Given the description of an element on the screen output the (x, y) to click on. 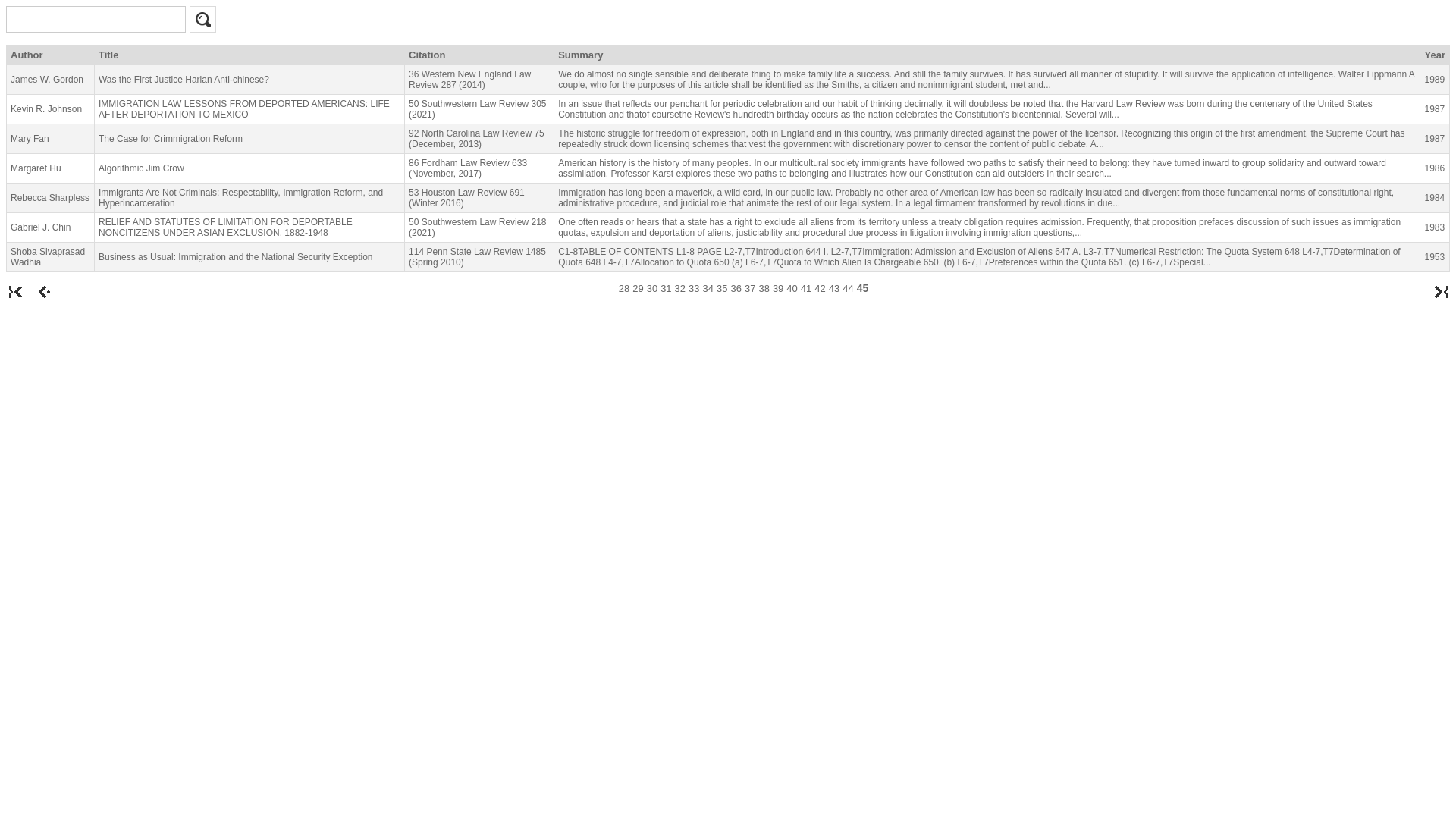
29 (637, 288)
Click to sort by Title (249, 55)
43 (834, 288)
44 (848, 288)
28 (623, 288)
33 (693, 288)
40 (791, 288)
35 (721, 288)
34 (708, 288)
39 (778, 288)
31 (666, 288)
Click to sort by Citation (479, 55)
32 (680, 288)
30 (652, 288)
Click to sort by Author (49, 55)
